Given the description of an element on the screen output the (x, y) to click on. 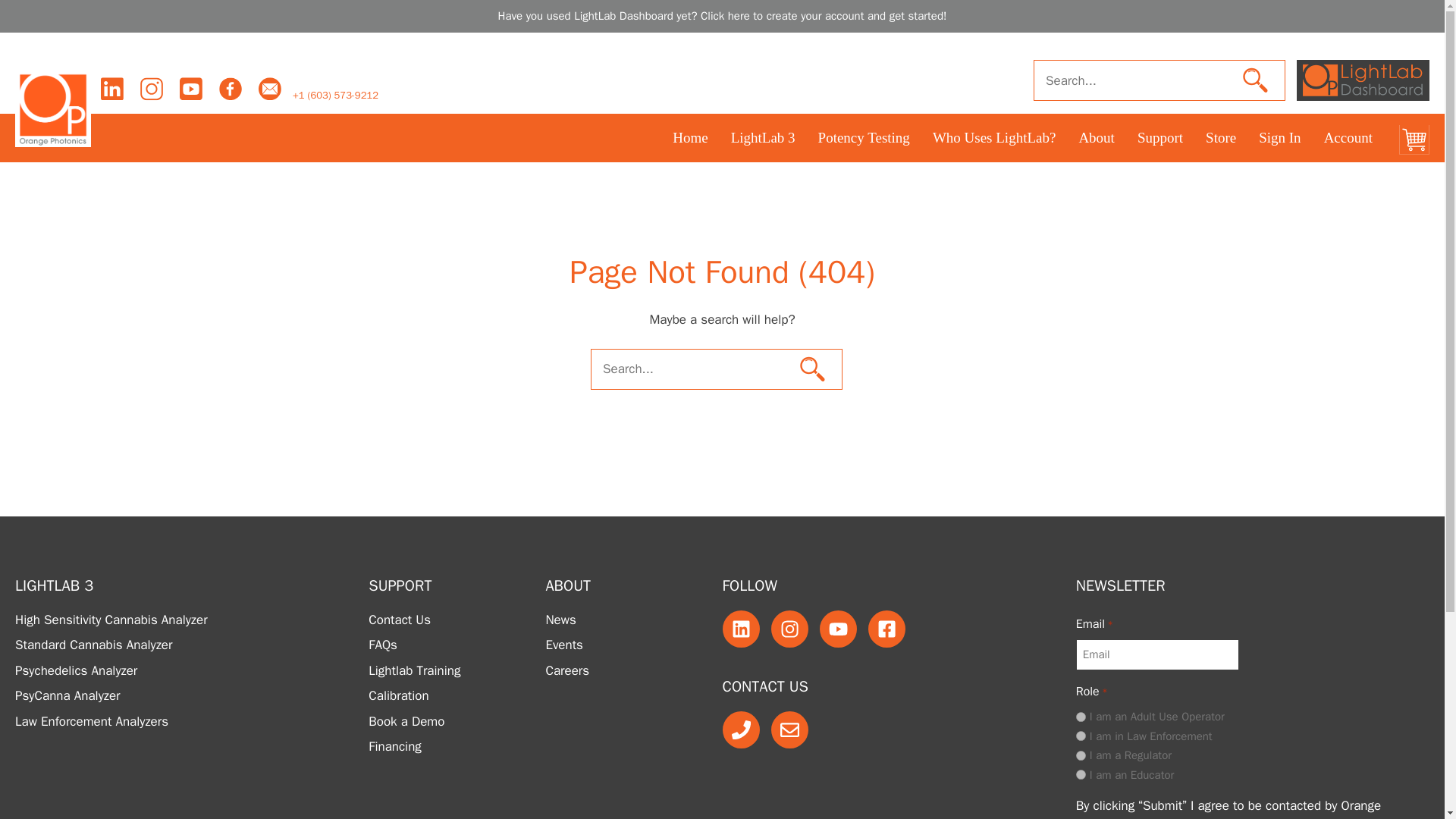
Law Enforcement (1080, 736)
Facebook Icon Website (230, 89)
Instagram Icon Website (151, 89)
OP-Square-Logo-White-240px-wide (52, 108)
Email Icon Website (269, 89)
Educator (1080, 774)
LinkedIn Icon Website (112, 89)
Click here to create your account and get started! (823, 15)
Adult Use (1080, 716)
Regulator (1080, 755)
